Given the description of an element on the screen output the (x, y) to click on. 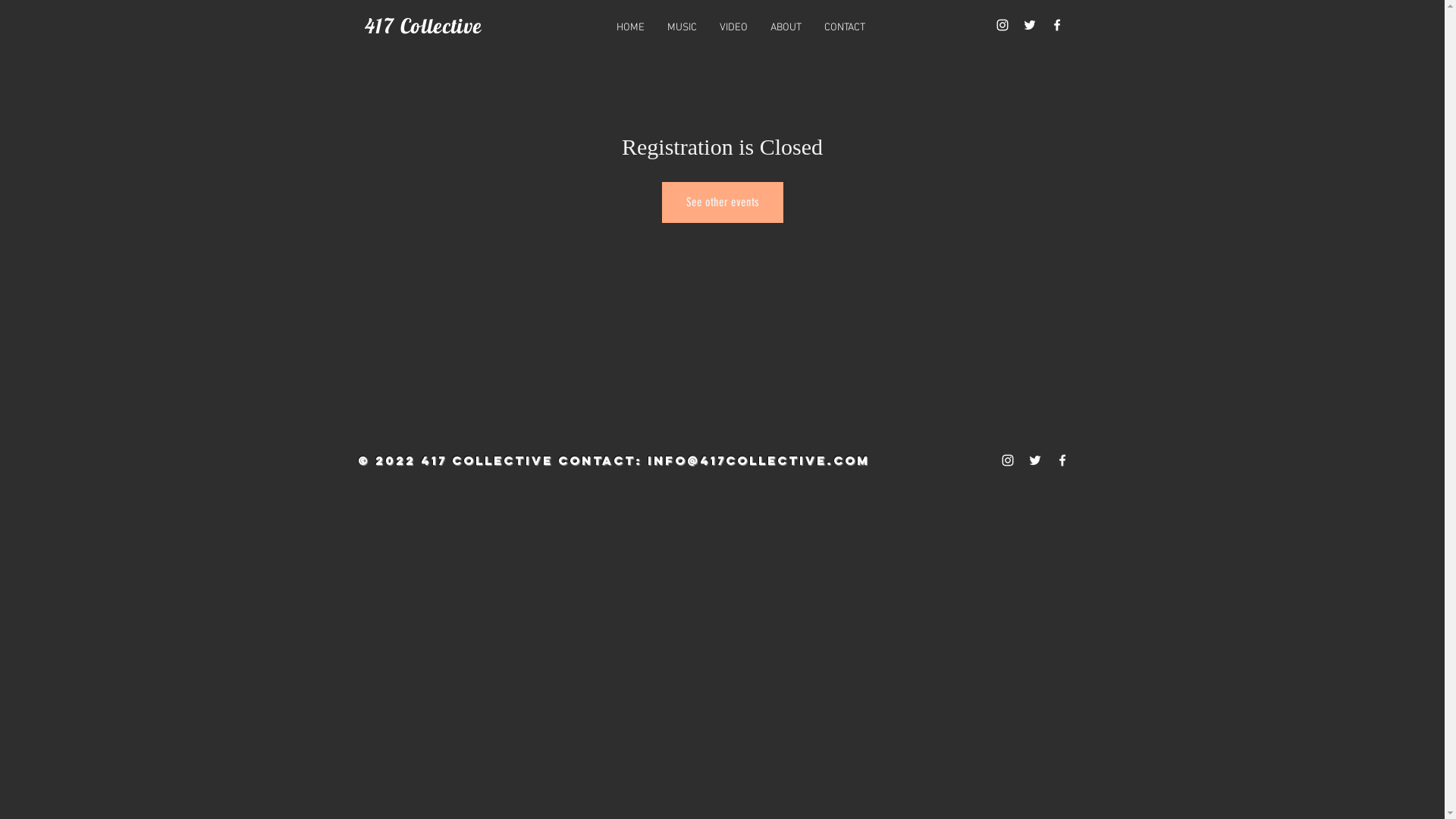
MUSIC Element type: text (681, 28)
info@417collective.com Element type: text (758, 459)
ABOUT Element type: text (785, 28)
417 Collective Element type: text (422, 25)
VIDEO Element type: text (733, 28)
CONTACT Element type: text (844, 28)
See other events Element type: text (721, 202)
HOME Element type: text (630, 28)
